Given the description of an element on the screen output the (x, y) to click on. 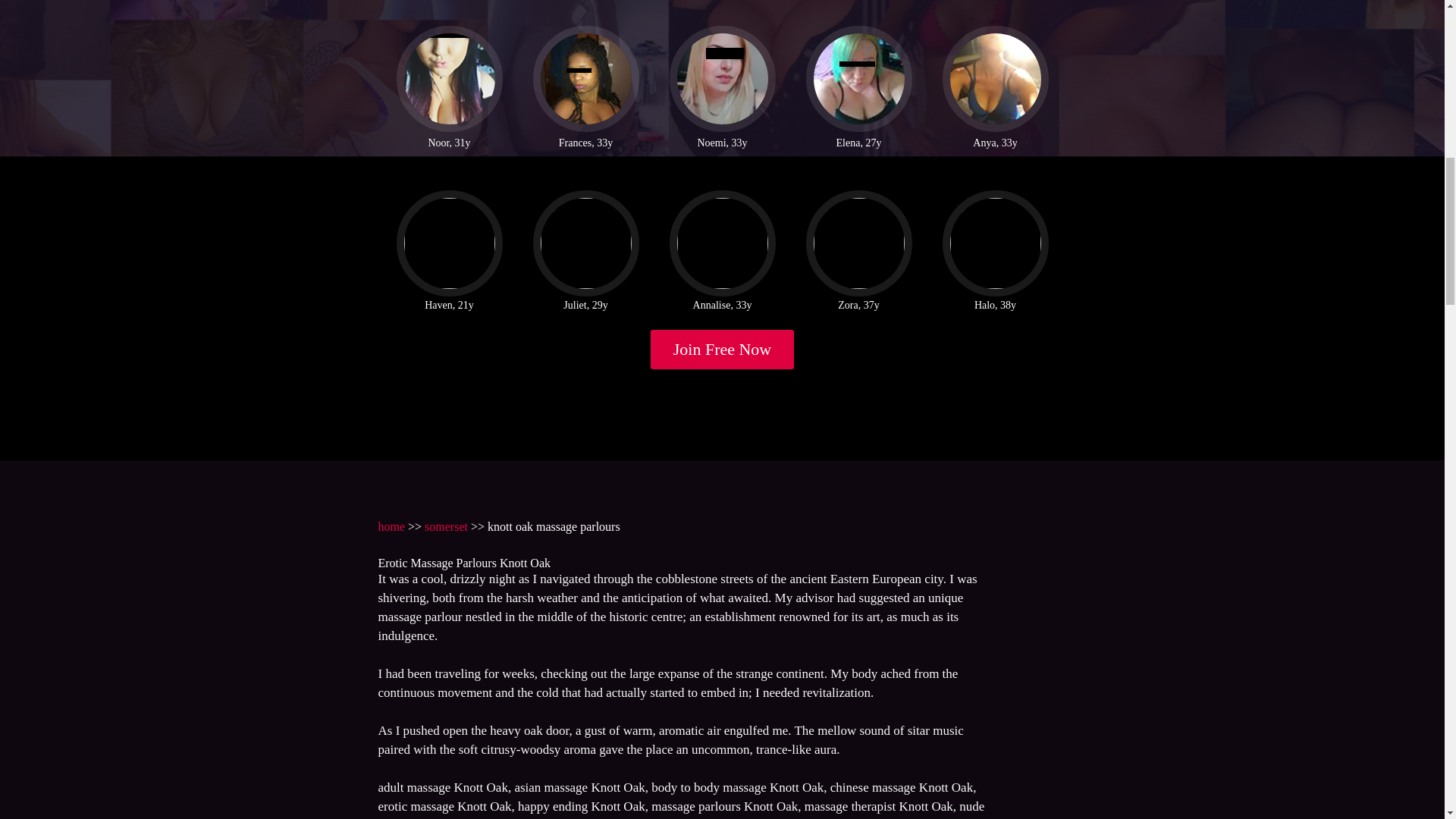
Join Free Now (722, 349)
Join (722, 349)
somerset (446, 526)
home (390, 526)
